Given the description of an element on the screen output the (x, y) to click on. 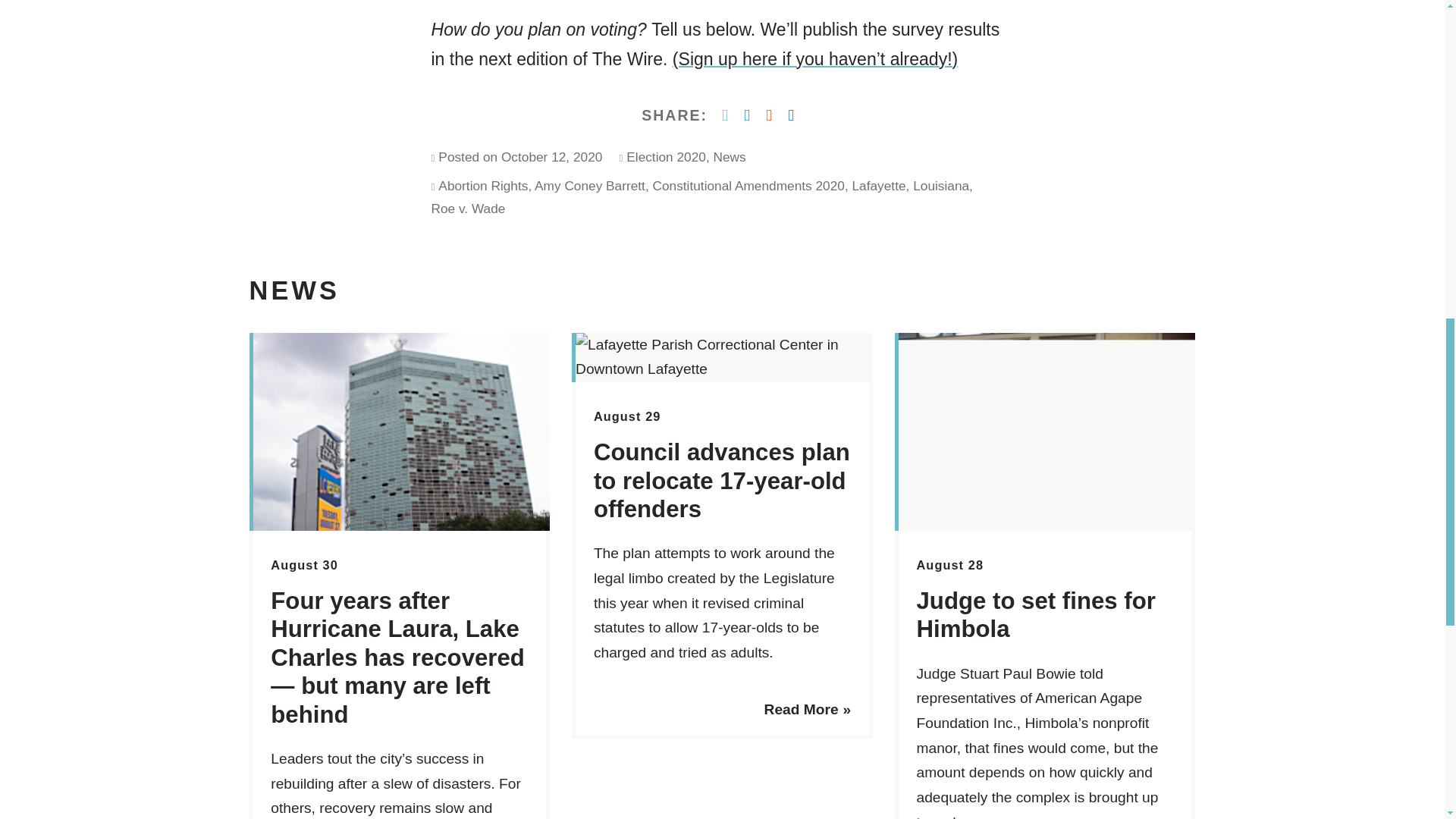
Published October 12, 2020 at 3:18 pm (551, 156)
Published August 28, 2024 at 5:29 pm (949, 564)
Constitutional Amendments 2020 (748, 185)
Judge to set fines for Himbola (1034, 615)
News (729, 156)
Lafayette (878, 185)
Election 2020 (666, 156)
Amy Coney Barrett (589, 185)
Council advances plan to relocate 17-year-old offenders (722, 480)
Abortion Rights (482, 185)
